Given the description of an element on the screen output the (x, y) to click on. 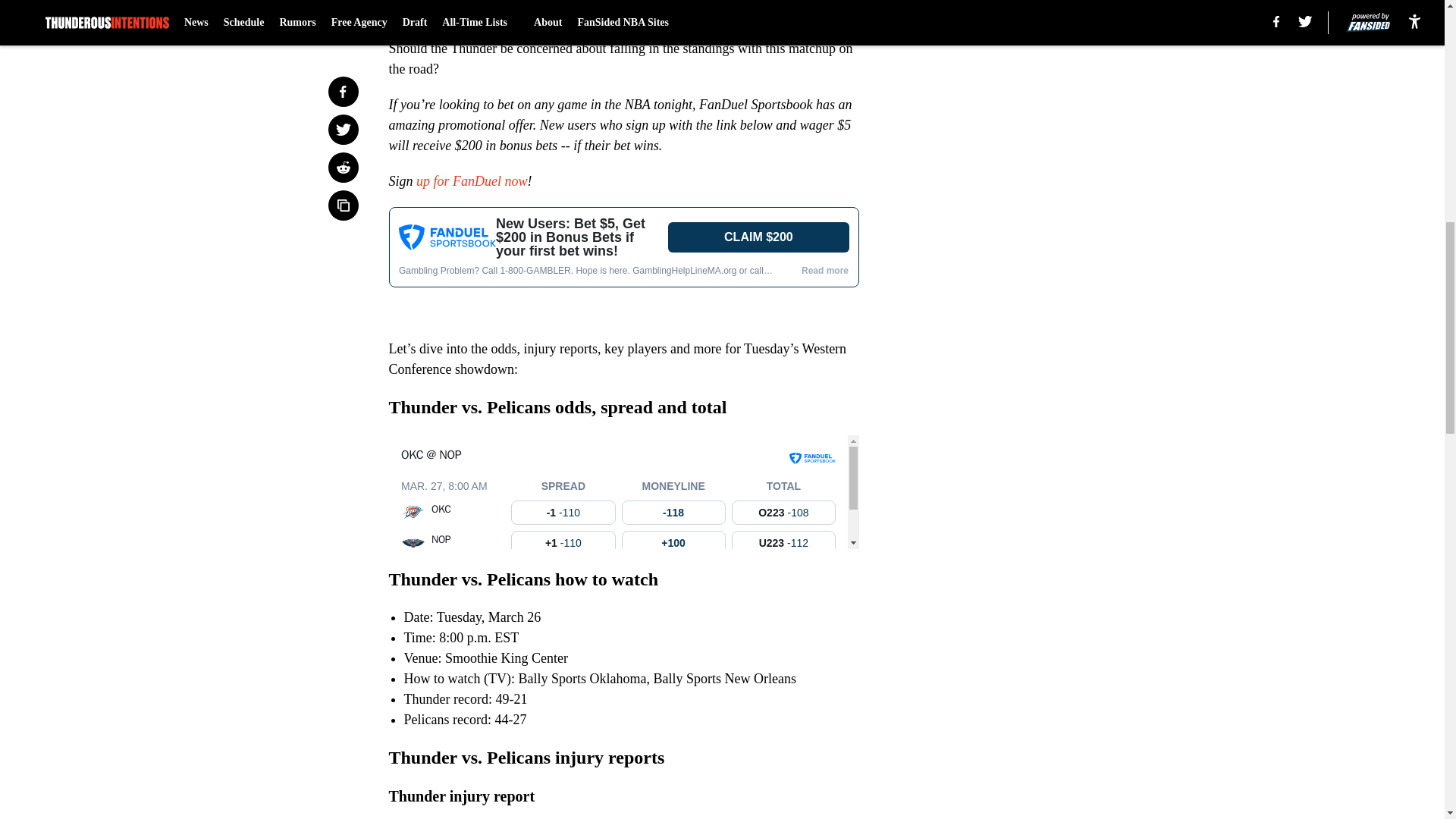
 up for FanDuel now (470, 180)
tallysight (623, 263)
tallysight (623, 491)
